Given the description of an element on the screen output the (x, y) to click on. 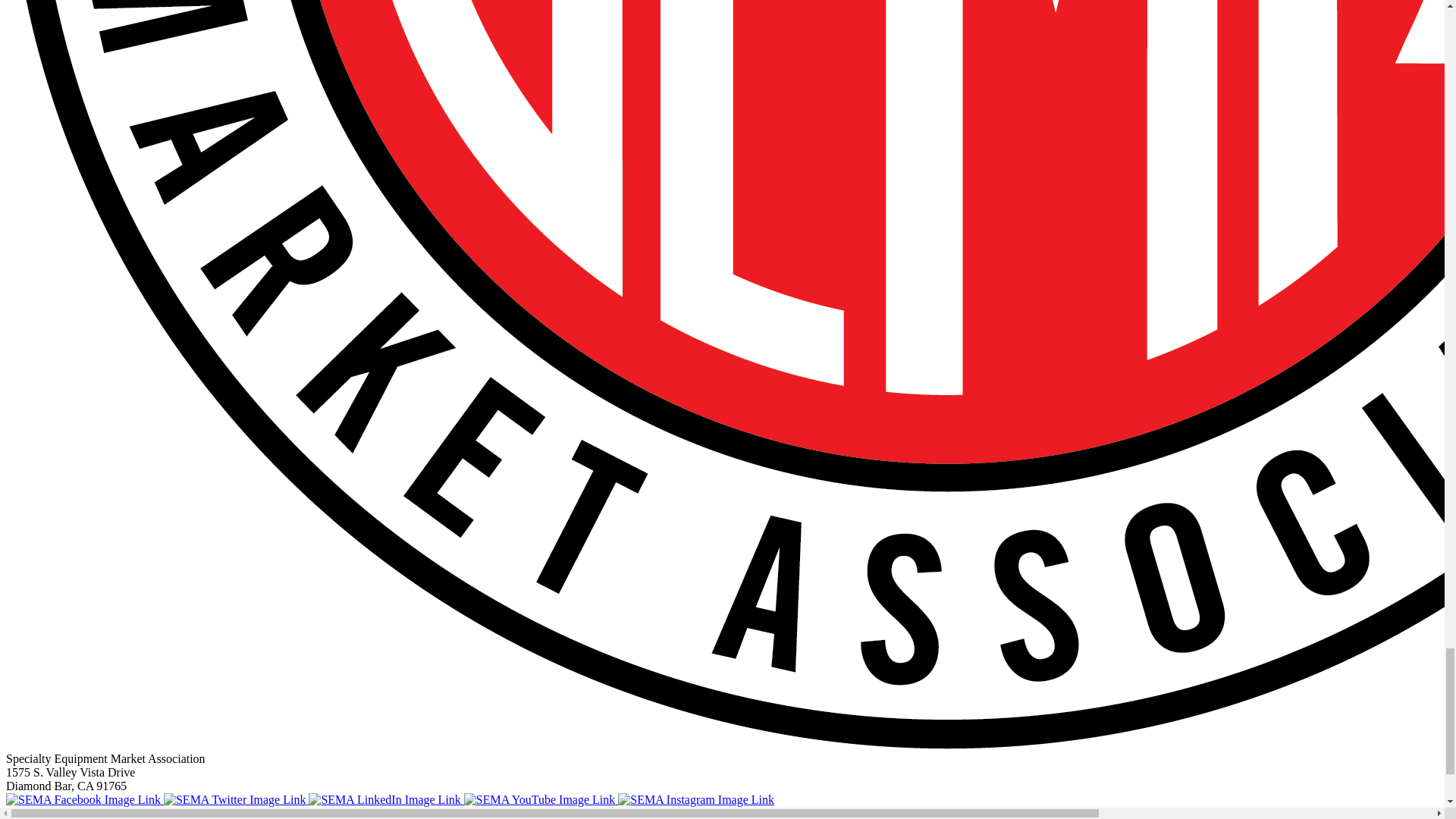
SEMA Twitter Link (235, 799)
SEMA Instagram Link (695, 799)
SEMA Facebook Link (84, 799)
SEMA YouTube Link (540, 799)
Privacy Policy (224, 812)
SEMA LinkedIn Link (385, 799)
